Given the description of an element on the screen output the (x, y) to click on. 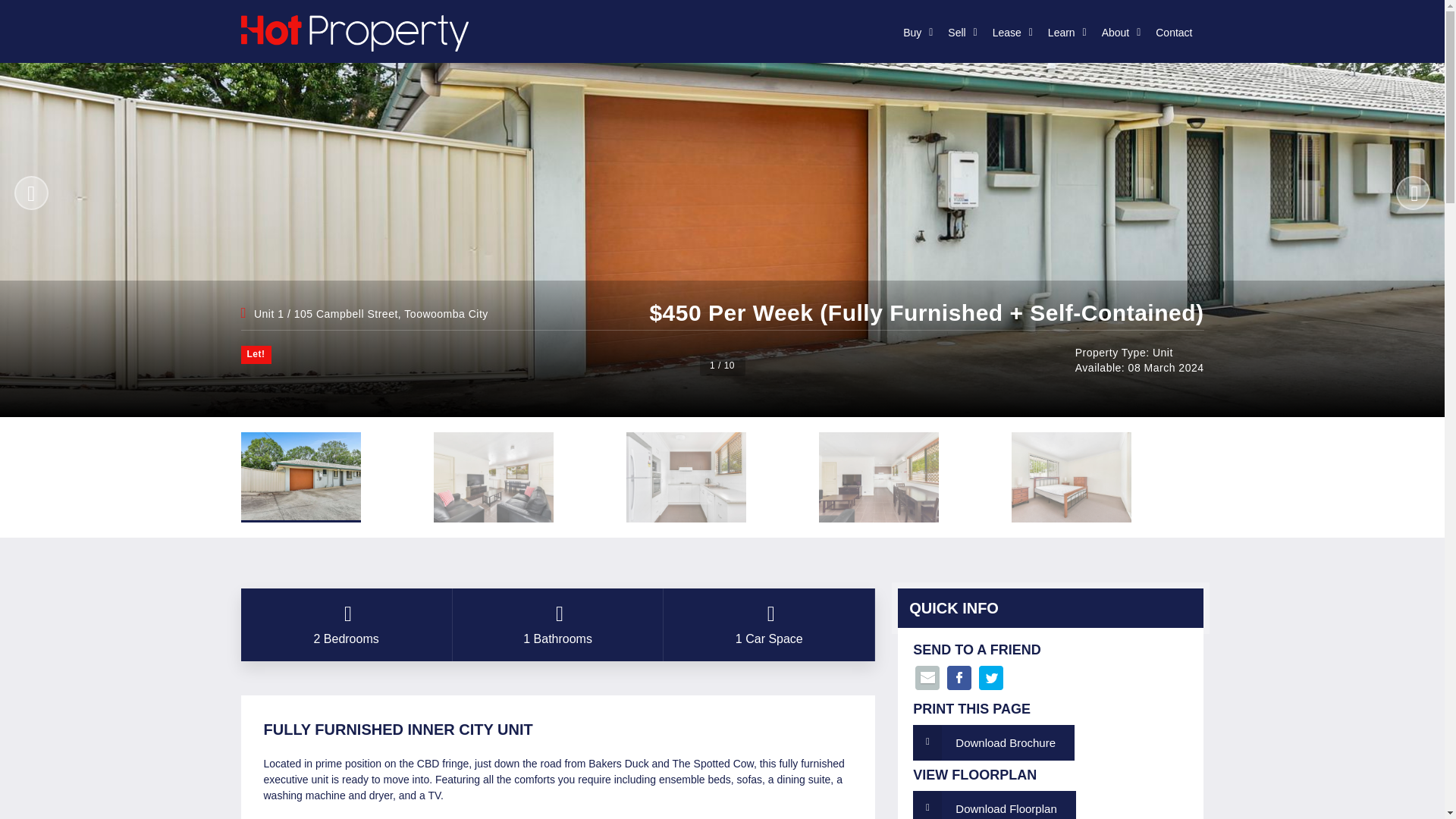
Buy (913, 32)
About (1117, 32)
Sell (957, 32)
Learn (1063, 32)
Lease (1008, 32)
